Given the description of an element on the screen output the (x, y) to click on. 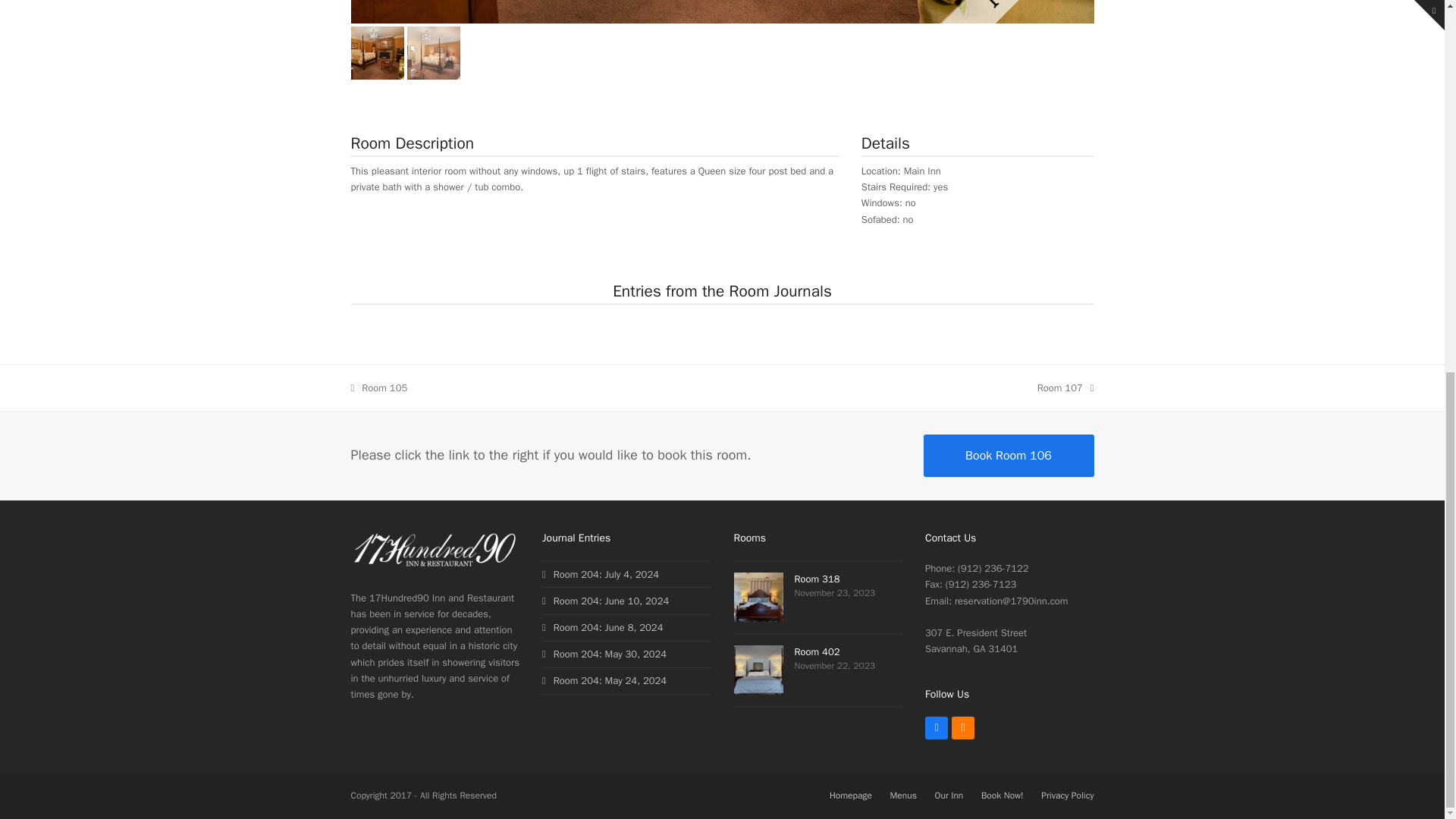
Room 204: May 30, 2024 (603, 653)
Total Homepage (434, 565)
Room 204: June 10, 2024 (378, 387)
Room 204: July 4, 2024 (604, 600)
RSS (600, 574)
Room 204: June 8, 2024 (1065, 387)
Facebook (963, 727)
Book Room 106 (601, 626)
